Given the description of an element on the screen output the (x, y) to click on. 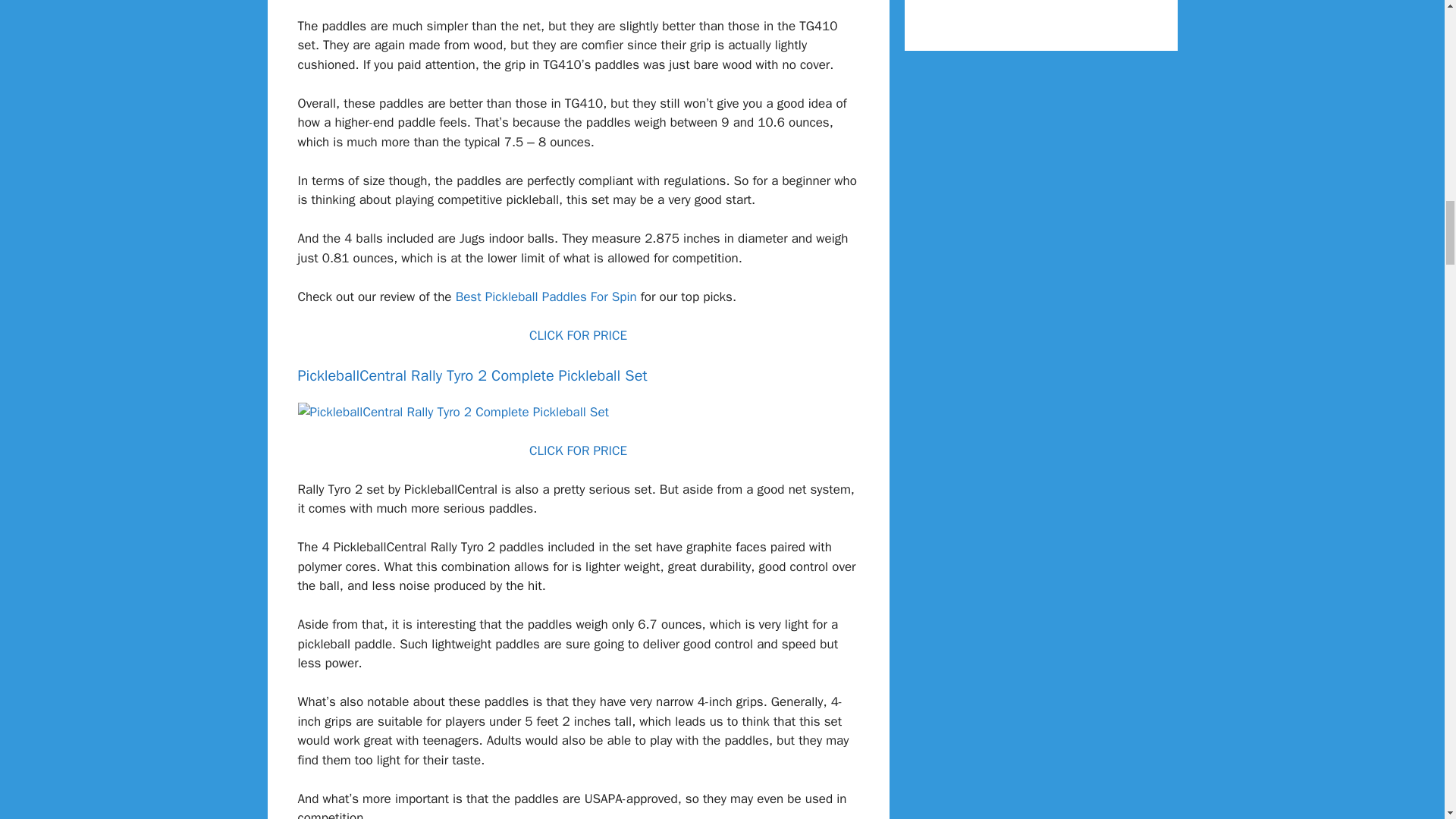
CLICK FOR PRICE (578, 335)
PickleballCentral Rally Tyro 2 Complete Pickleball Set (471, 375)
PickleballCentral Rally Tyro 2 Complete Pickleball Set (452, 411)
Best Pickleball Paddles For Spin (546, 296)
CLICK FOR PRICE (578, 450)
